Given the description of an element on the screen output the (x, y) to click on. 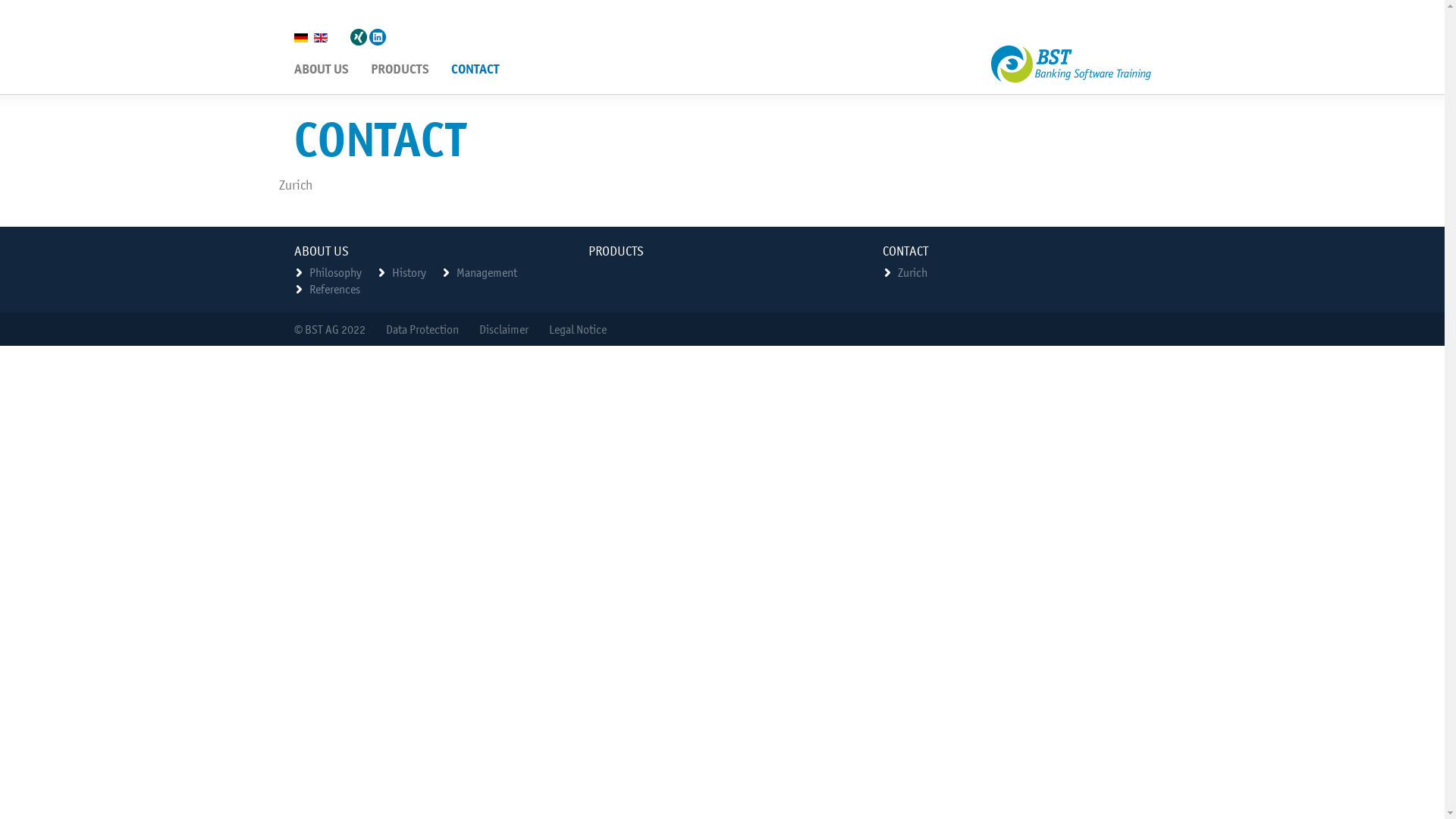
Legal Notice Element type: text (577, 328)
Deutsch Element type: hover (300, 37)
History Element type: text (408, 271)
BST on Xing Element type: hover (358, 36)
Disclaimer Element type: text (503, 328)
Zurich Element type: text (912, 271)
Data Protection Element type: text (421, 328)
Zurich Element type: text (307, 184)
Management Element type: text (486, 271)
PRODUCTS Element type: text (399, 69)
ABOUT US Element type: text (320, 69)
Philosophy Element type: text (335, 271)
English Element type: hover (320, 37)
BST on LinkedIn Element type: hover (376, 36)
References Element type: text (334, 288)
CONTACT Element type: text (474, 69)
